Given the description of an element on the screen output the (x, y) to click on. 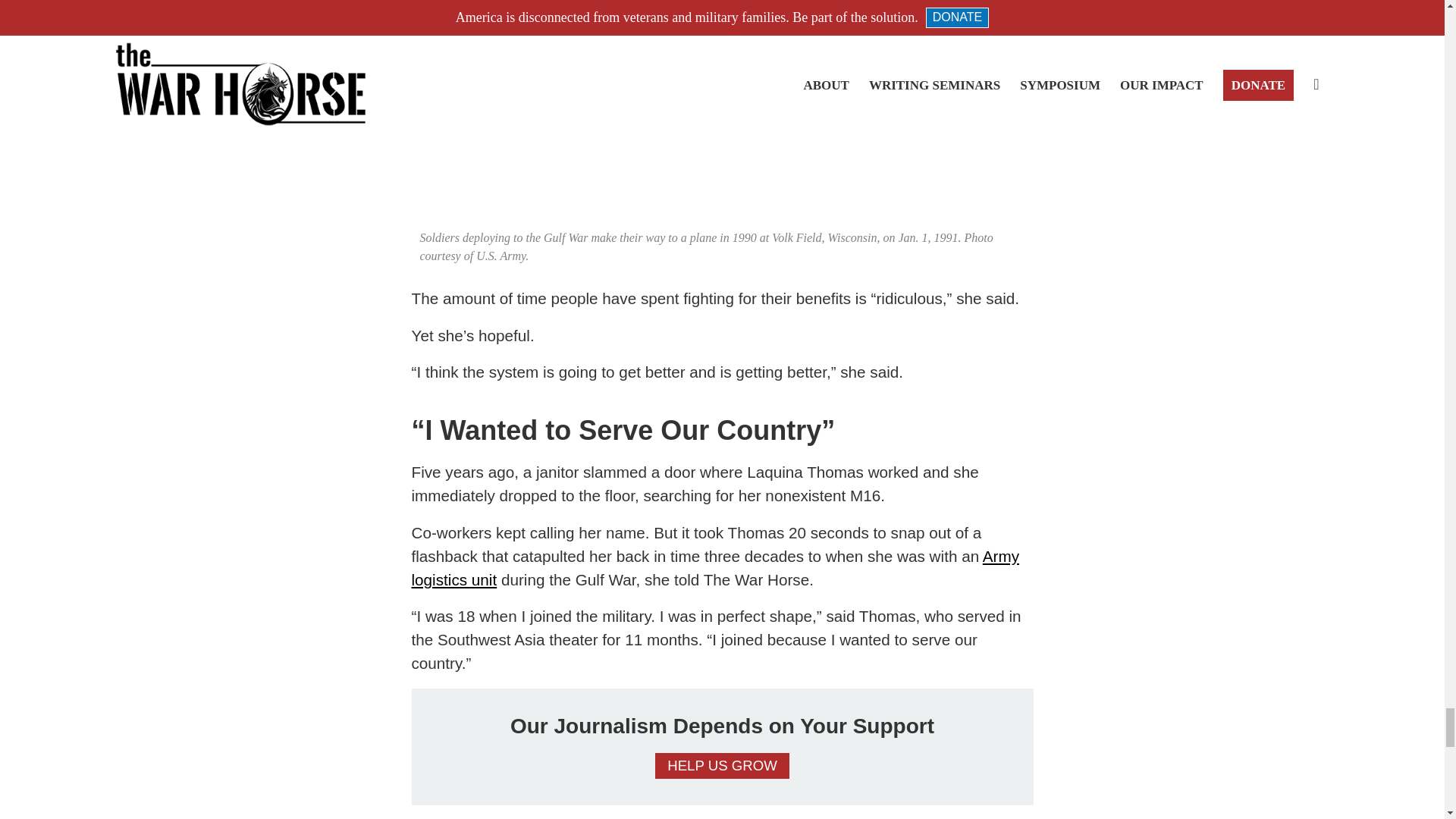
Help us grow (722, 765)
